Given the description of an element on the screen output the (x, y) to click on. 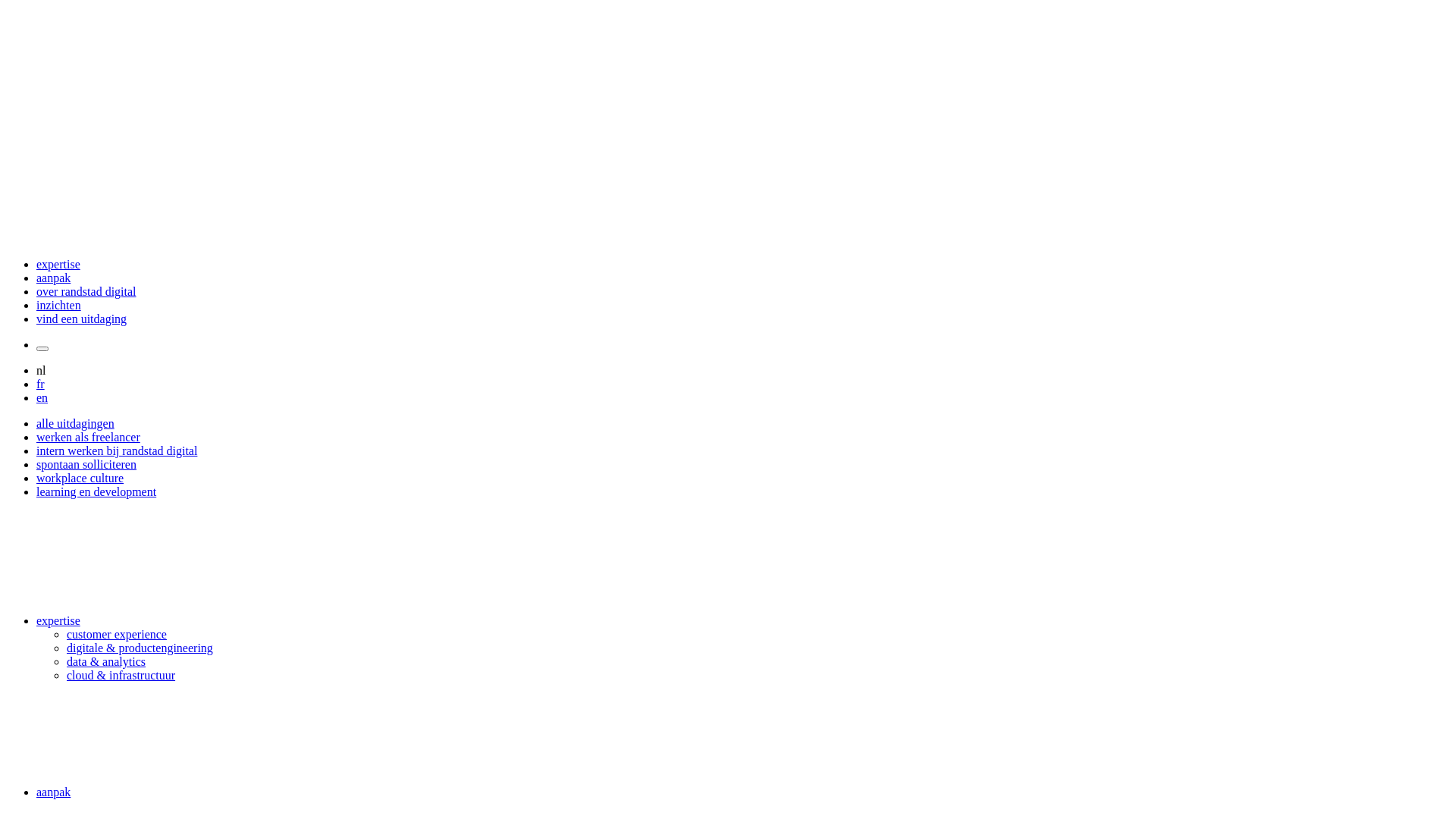
digitale & productengineering Element type: text (139, 647)
werken als freelancer Element type: text (88, 436)
en Element type: text (41, 397)
customer experience Element type: text (116, 633)
Randstad Digital Element type: text (727, 238)
data & analytics Element type: text (105, 661)
expertise Element type: text (58, 620)
aanpak Element type: text (53, 277)
expertise Element type: text (58, 263)
fr Element type: text (40, 383)
spontaan solliciteren Element type: text (86, 464)
learning en development Element type: text (96, 491)
inzichten Element type: text (58, 304)
over randstad digital Element type: text (86, 291)
vind een uitdaging Element type: text (81, 318)
aanpak Element type: text (53, 791)
workplace culture Element type: text (79, 477)
cloud & infrastructuur Element type: text (120, 674)
intern werken bij randstad digital Element type: text (116, 450)
alle uitdagingen Element type: text (75, 423)
